Given the description of an element on the screen output the (x, y) to click on. 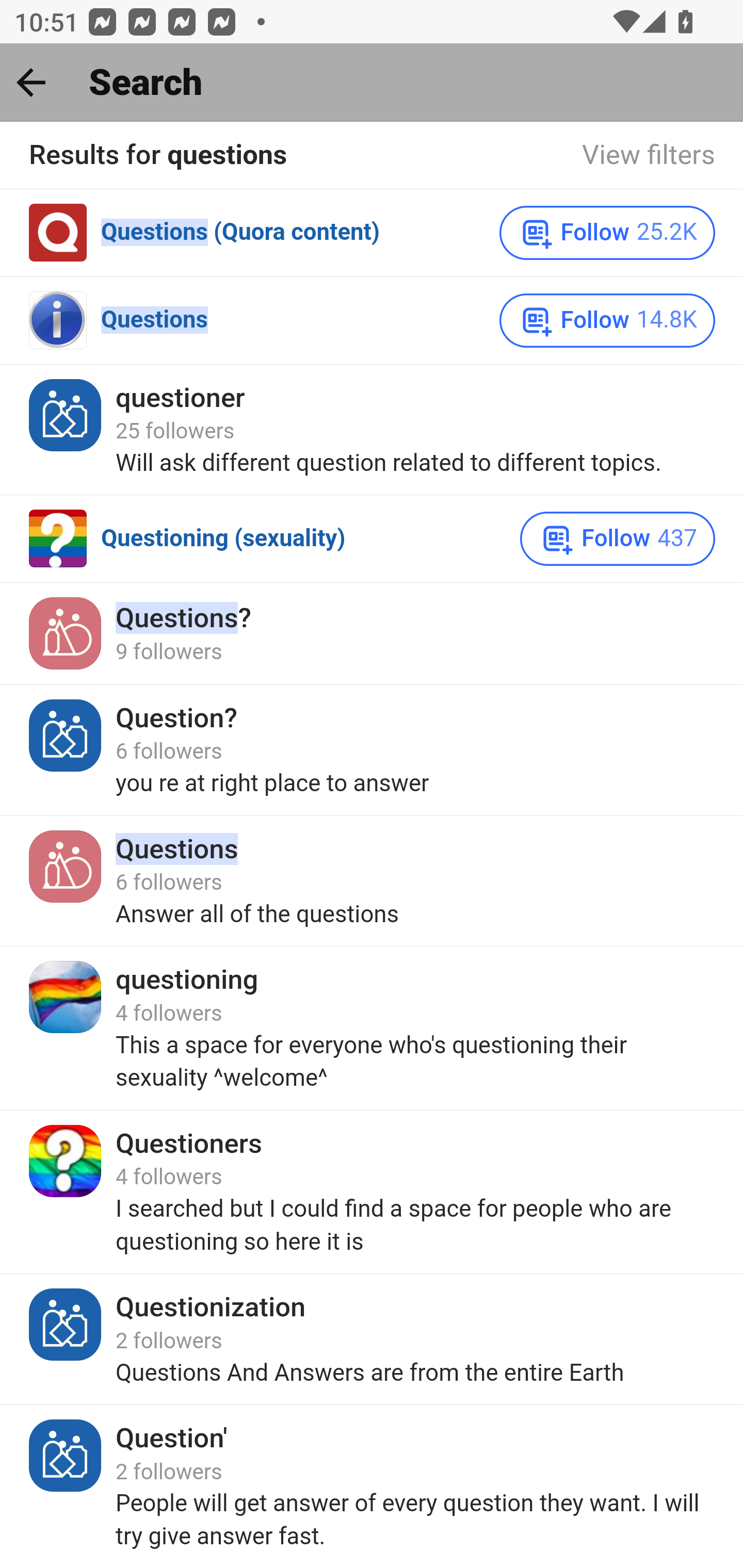
Back Search (371, 82)
Back (30, 82)
View filters (648, 155)
Follow 25.2K (607, 232)
Follow 14.8K (607, 320)
Follow 437 (618, 538)
Icon for Questions? Questions? 9 followers (371, 633)
